Given the description of an element on the screen output the (x, y) to click on. 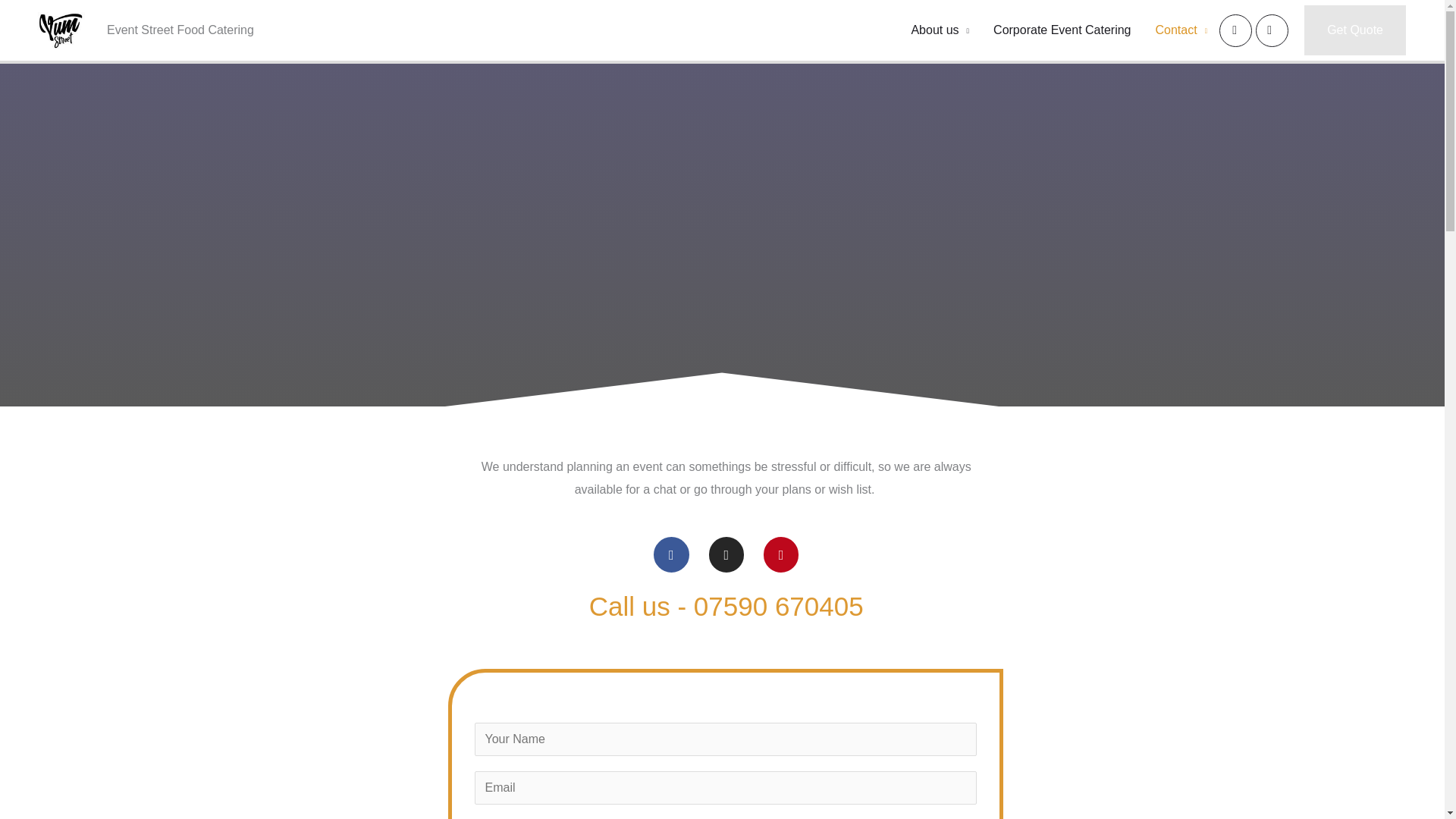
Contact (1181, 29)
Corporate Event Catering (1061, 29)
Facebook-f (671, 554)
Instagram (726, 554)
About us (939, 29)
Pinterest (780, 554)
Get Quote (1355, 29)
